Given the description of an element on the screen output the (x, y) to click on. 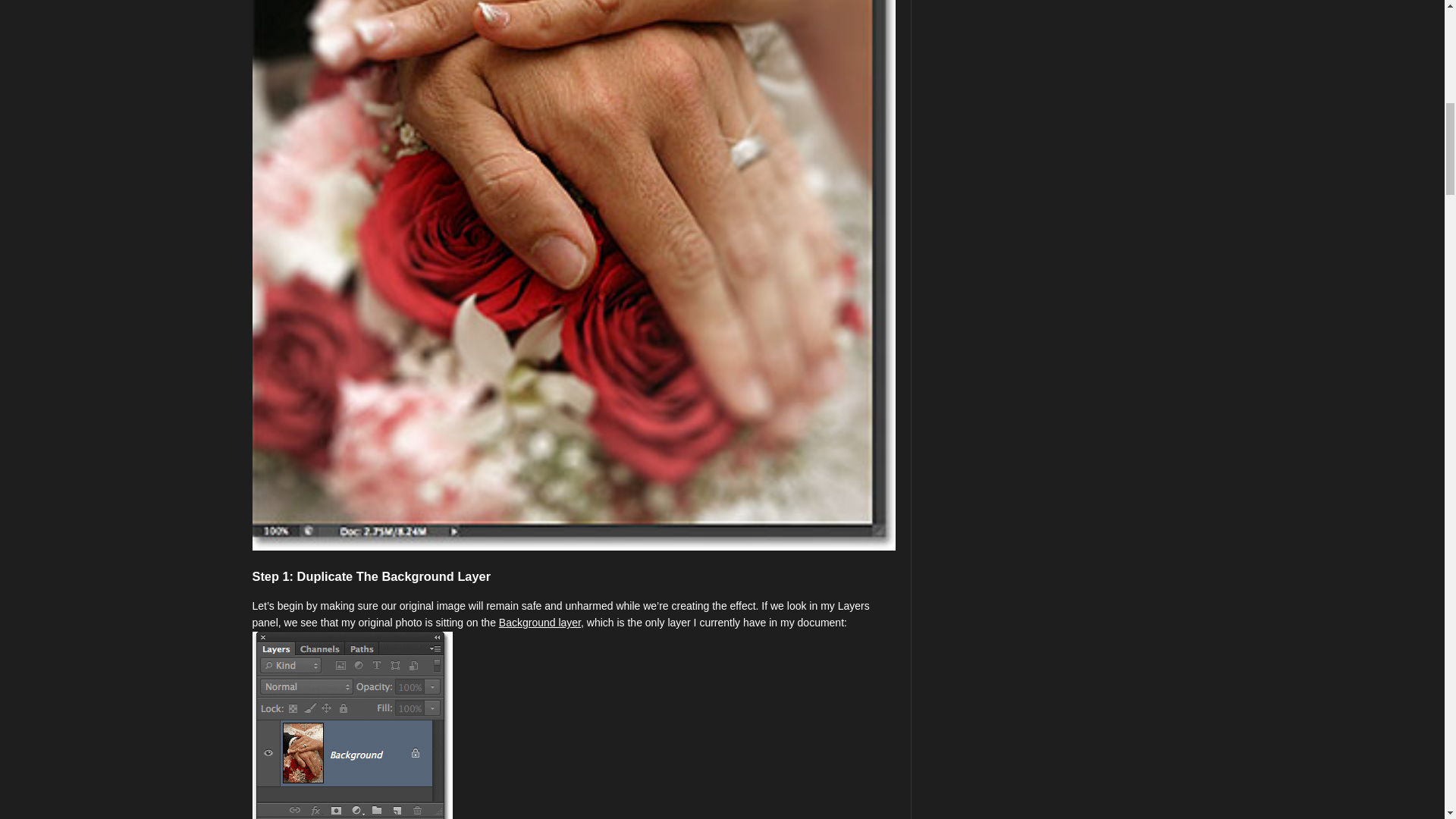
Background layer (539, 622)
